Given the description of an element on the screen output the (x, y) to click on. 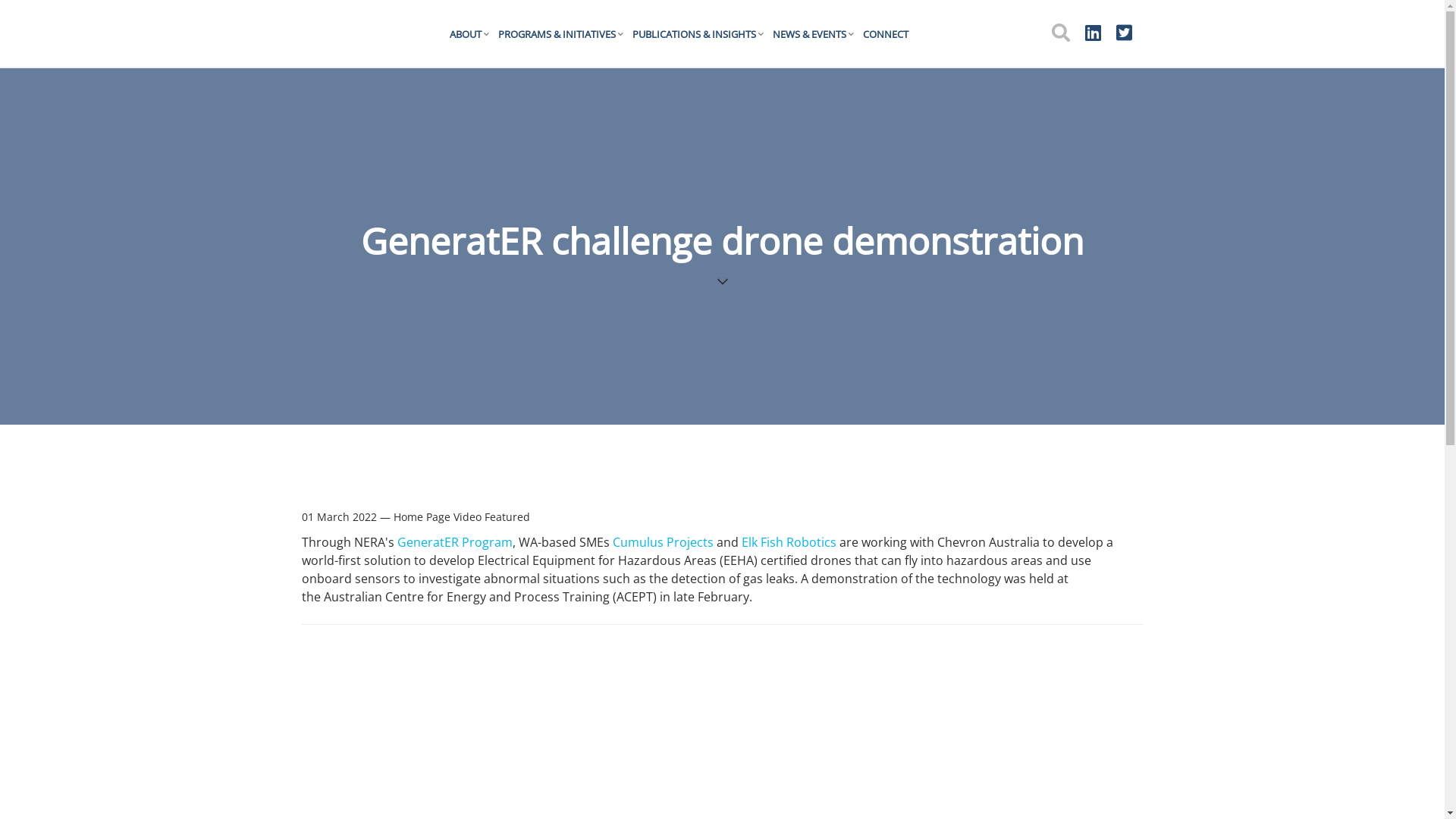
PROGRAMS & INITIATIVES Element type: text (564, 33)
NEWS & EVENTS Element type: text (816, 33)
GeneratER Program Element type: text (454, 541)
PUBLICATIONS & INSIGHTS Element type: text (702, 33)
CONNECT Element type: text (889, 33)
Elk Fish Robotics Element type: text (788, 541)
ABOUT Element type: text (472, 33)
Cumulus Projects Element type: text (662, 541)
